Given the description of an element on the screen output the (x, y) to click on. 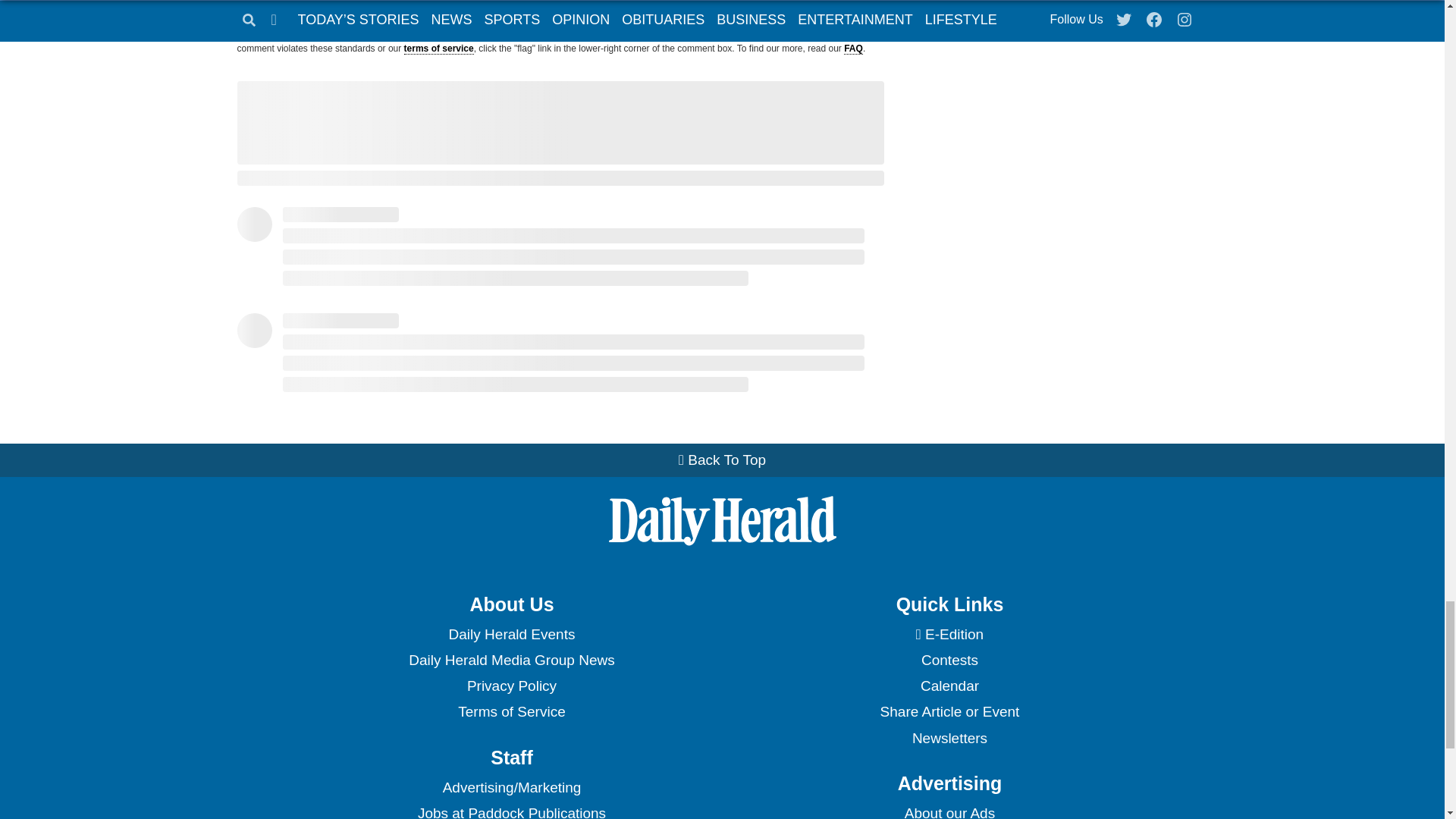
Terms of Service (511, 711)
Privacy Policy (511, 686)
Daily Herald Events (511, 634)
Daily Herald Media Group News (511, 660)
